Given the description of an element on the screen output the (x, y) to click on. 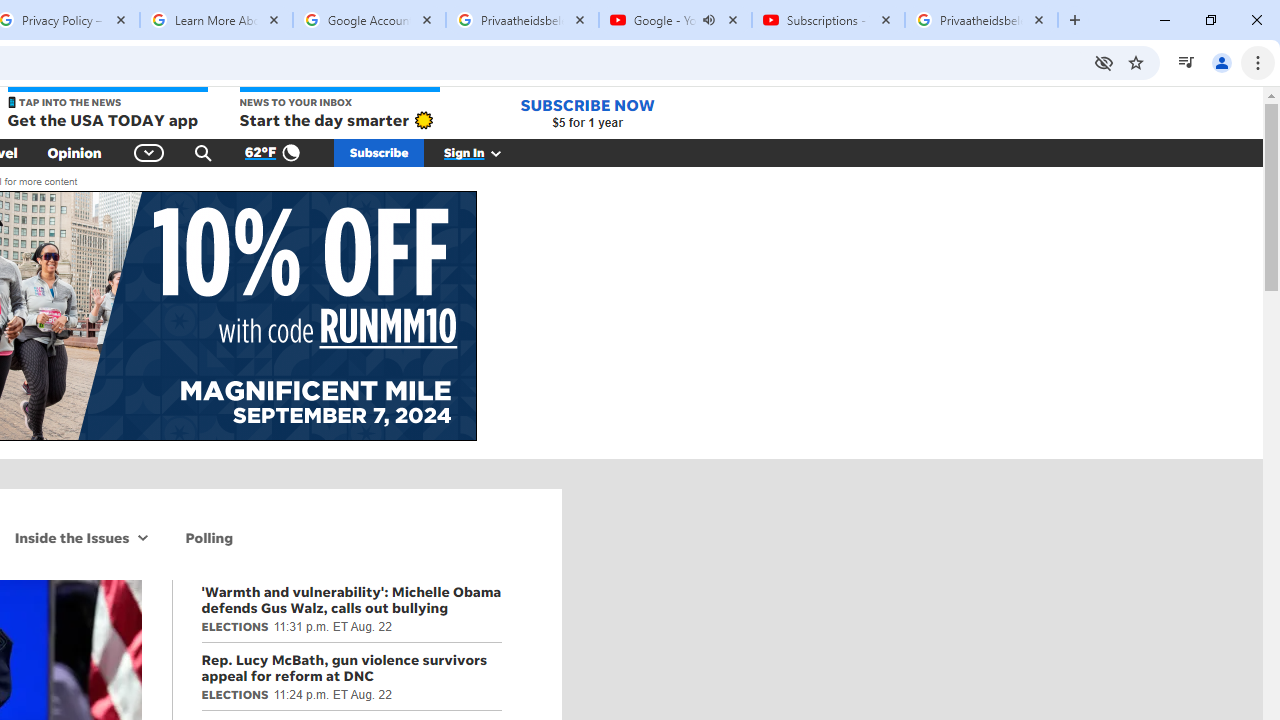
More Inside the Issues navigation (143, 537)
Google - YouTube - Audio playing (675, 20)
Opinion (74, 152)
Polling (209, 537)
Inside the Issues (68, 537)
Subscribe (379, 152)
